Given the description of an element on the screen output the (x, y) to click on. 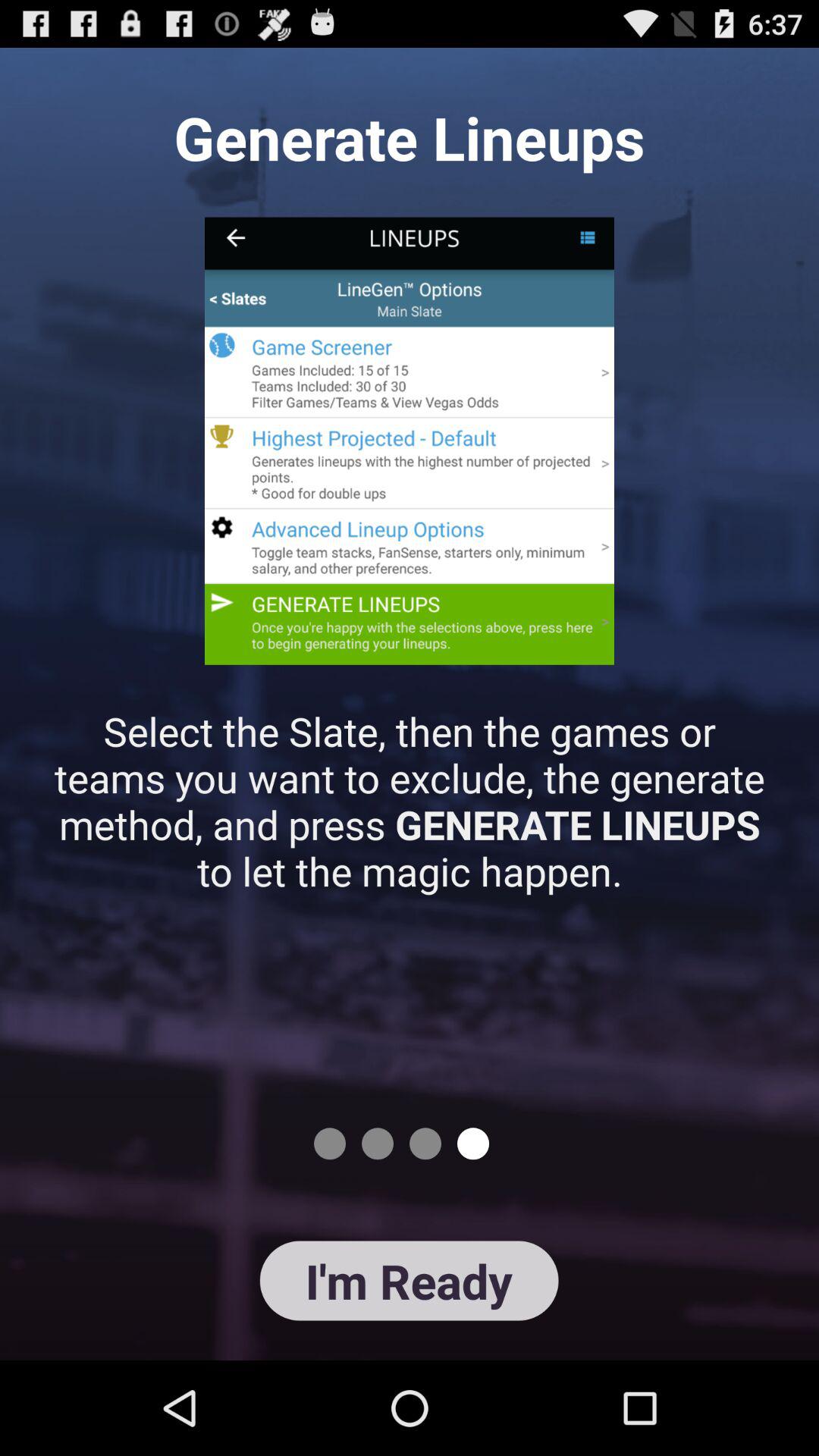
scroll to i'm ready (408, 1280)
